Given the description of an element on the screen output the (x, y) to click on. 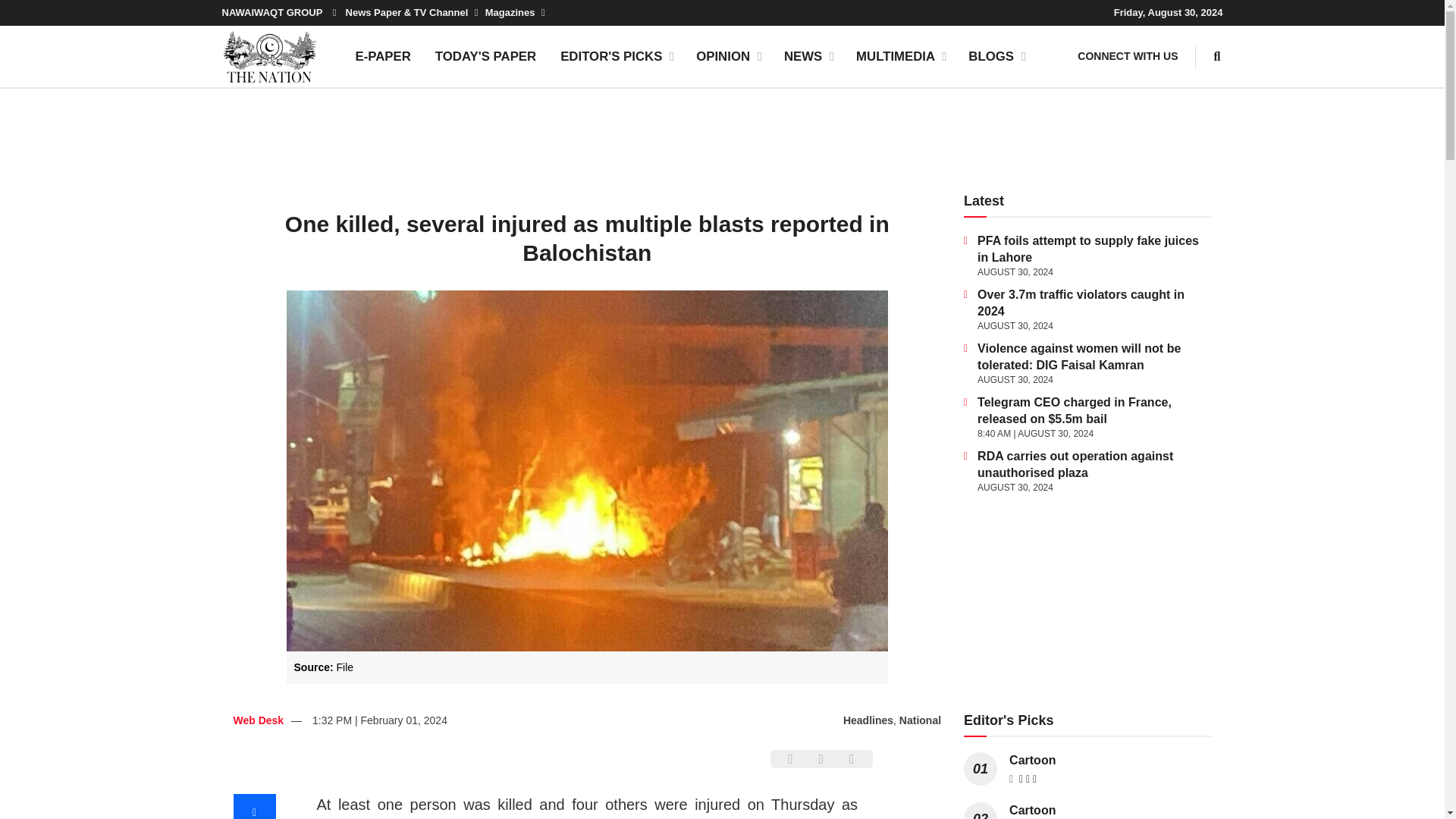
Magazines (513, 12)
OPINION (727, 55)
E-PAPER (382, 55)
BLOGS (995, 55)
MULTIMEDIA (900, 55)
TODAY'S PAPER (485, 55)
NEWS (807, 55)
EDITOR'S PICKS (616, 55)
